Given the description of an element on the screen output the (x, y) to click on. 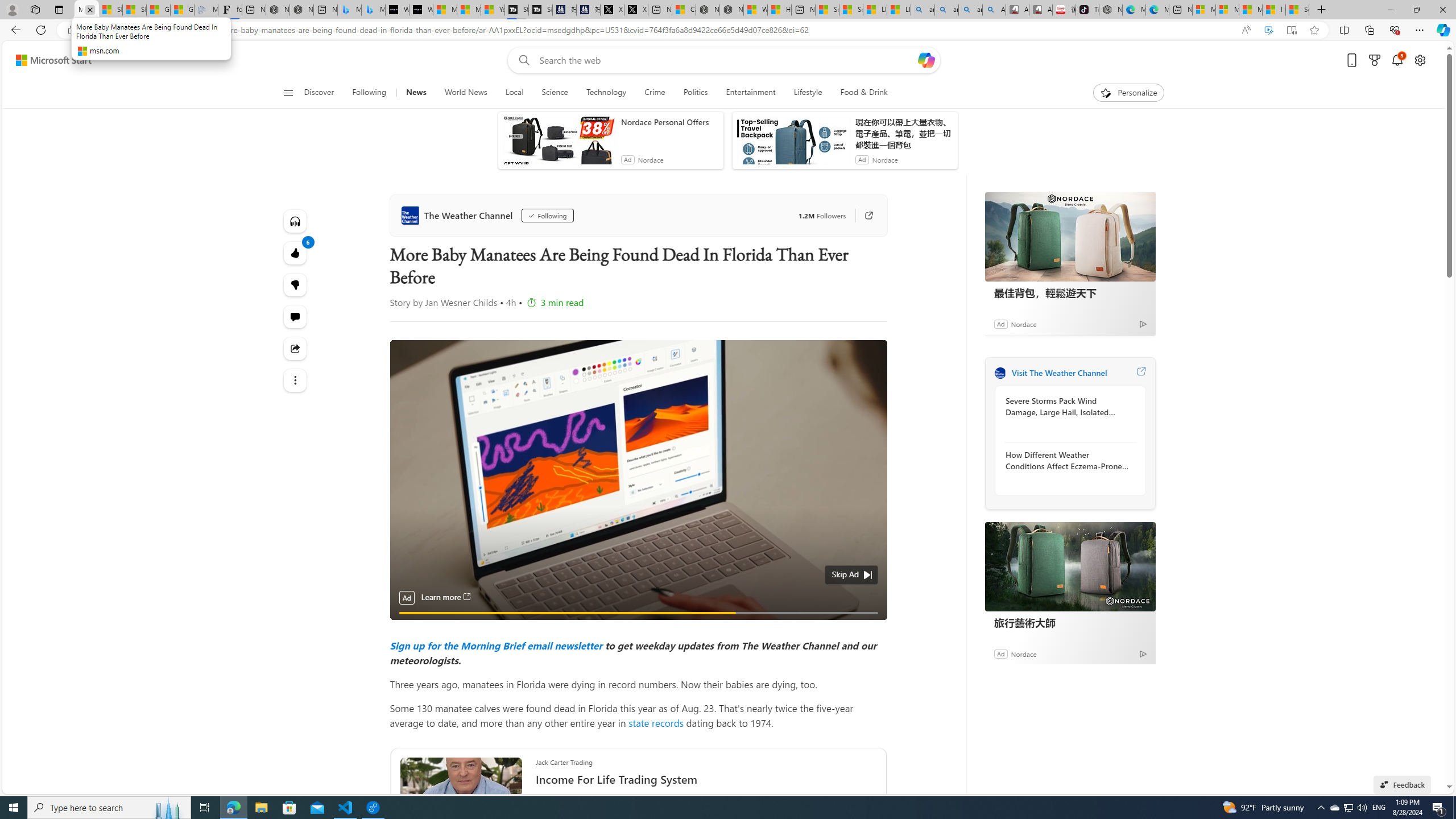
Open Copilot (926, 59)
Politics (694, 92)
Food & Drink (864, 92)
Split screen (1344, 29)
The Weather Channel (1000, 372)
Open settings (1420, 60)
Lifestyle (807, 92)
Microsoft Start (1250, 9)
Share this story (295, 348)
Skip to content (49, 59)
Web search (520, 60)
Shanghai, China weather forecast | Microsoft Weather (134, 9)
New tab (1180, 9)
Discover (319, 92)
